Given the description of an element on the screen output the (x, y) to click on. 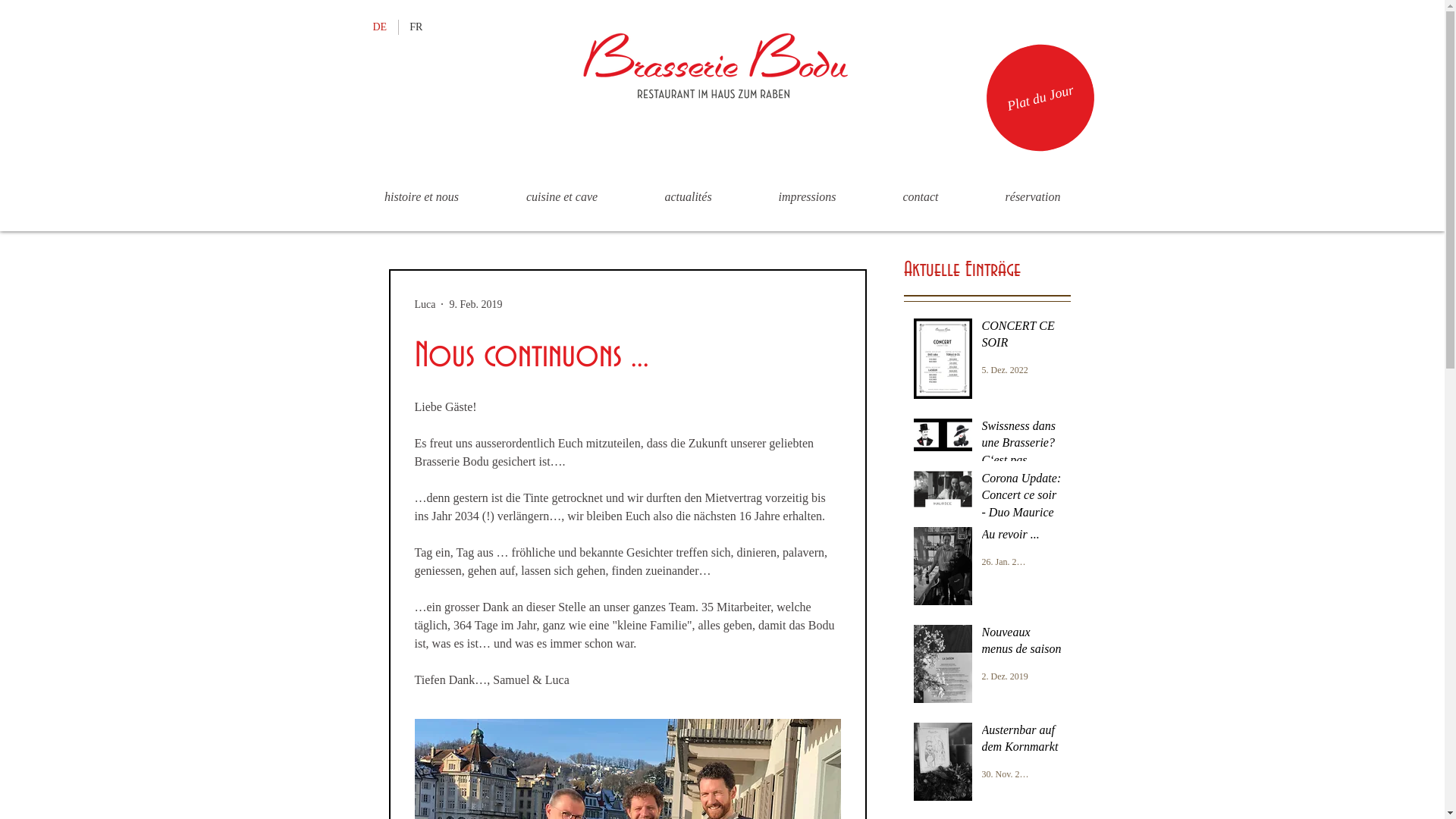
Corona Update: Concert ce soir - Duo Maurice Element type: text (1020, 498)
Plat du Jour Element type: text (1028, 86)
Nouveaux menus de saison Element type: text (1020, 644)
CONCERT CE SOIR Element type: text (1020, 337)
Austernbar auf dem Kornmarkt Element type: text (1020, 741)
FR Element type: text (415, 26)
contact Element type: text (920, 197)
impressions Element type: text (806, 197)
cuisine et cave Element type: text (561, 197)
DE Element type: text (380, 26)
Au revoir ... Element type: text (1020, 537)
histoire et nous Element type: text (421, 197)
